Given the description of an element on the screen output the (x, y) to click on. 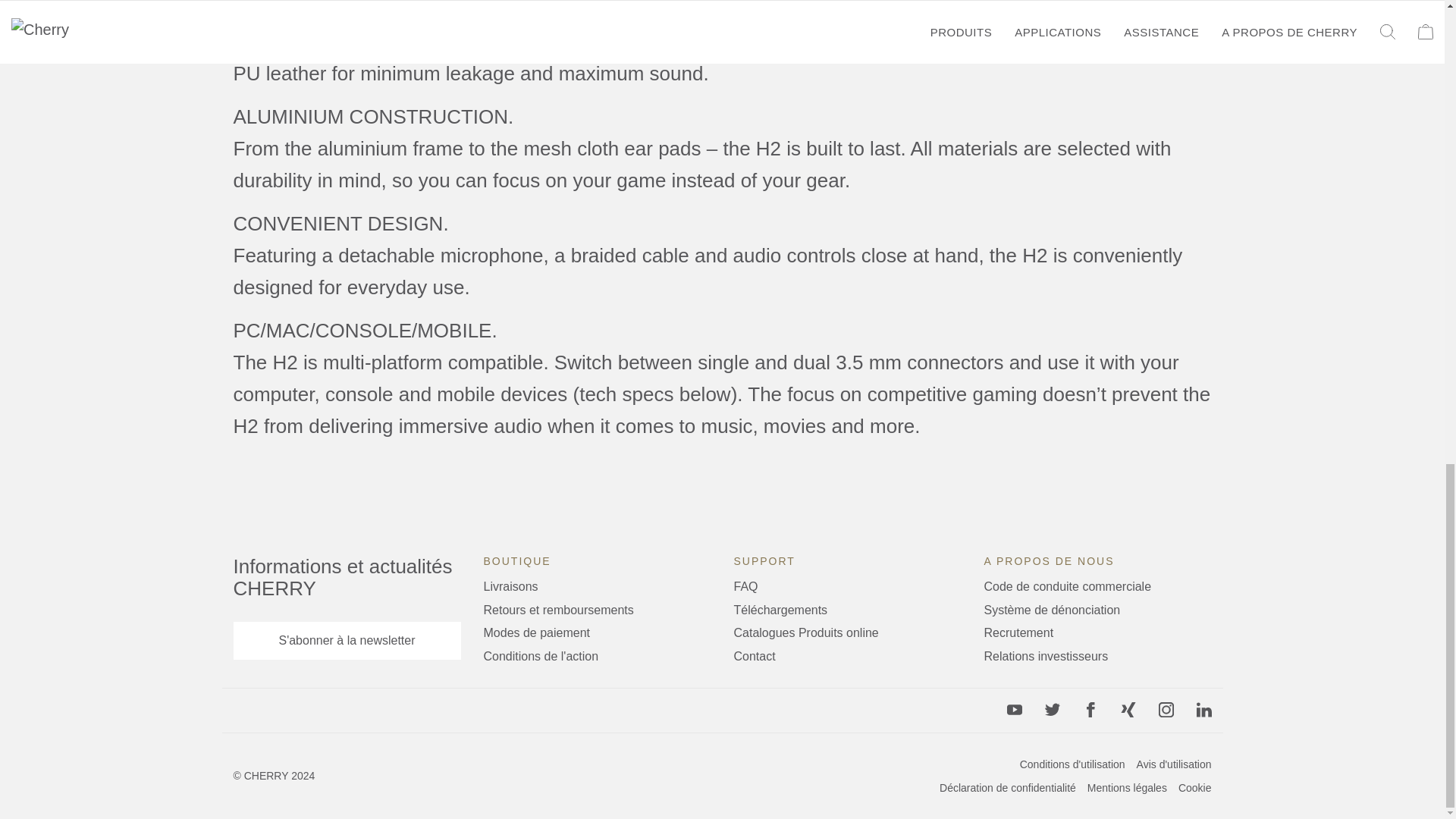
Xing (1128, 709)
Twitter (1052, 709)
Facebook (1090, 709)
LinkedIn (1203, 709)
Instagram (1165, 709)
Youtube (1014, 709)
